Given the description of an element on the screen output the (x, y) to click on. 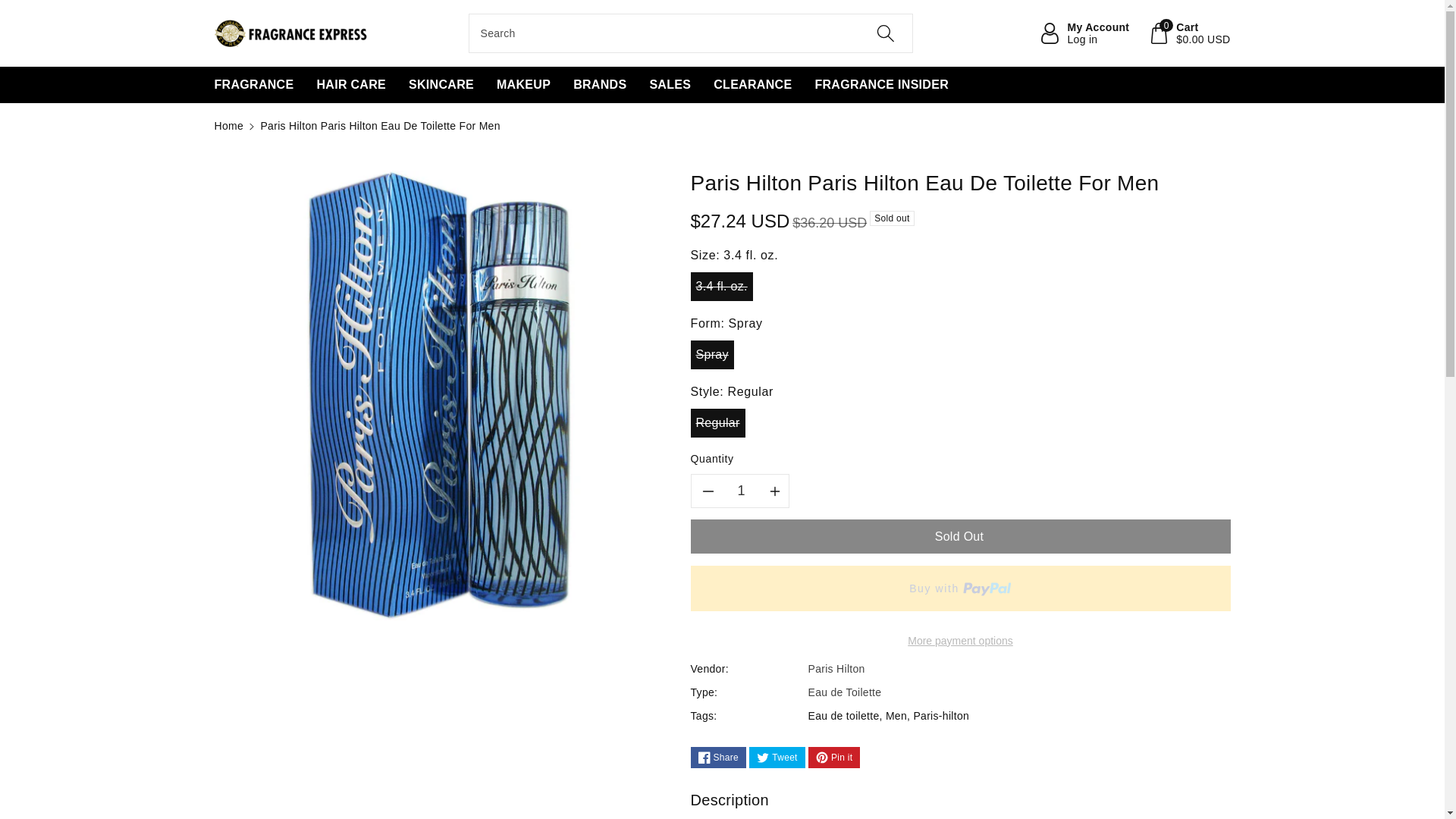
SALES (669, 85)
Skip To Product Information (222, 178)
Home (228, 125)
FRAGRANCE INSIDER (881, 85)
MAKEUP (523, 85)
CLEARANCE (752, 85)
Home (228, 125)
BRANDS (599, 85)
Skip To Content (8, 8)
HAIR CARE (350, 85)
SKINCARE (1084, 32)
